Given the description of an element on the screen output the (x, y) to click on. 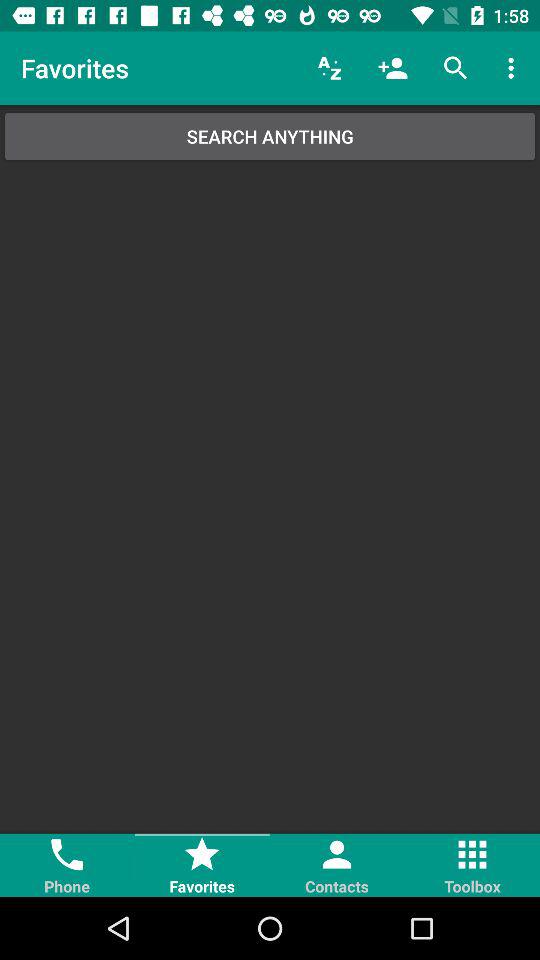
select the icon above search anything (513, 67)
